Given the description of an element on the screen output the (x, y) to click on. 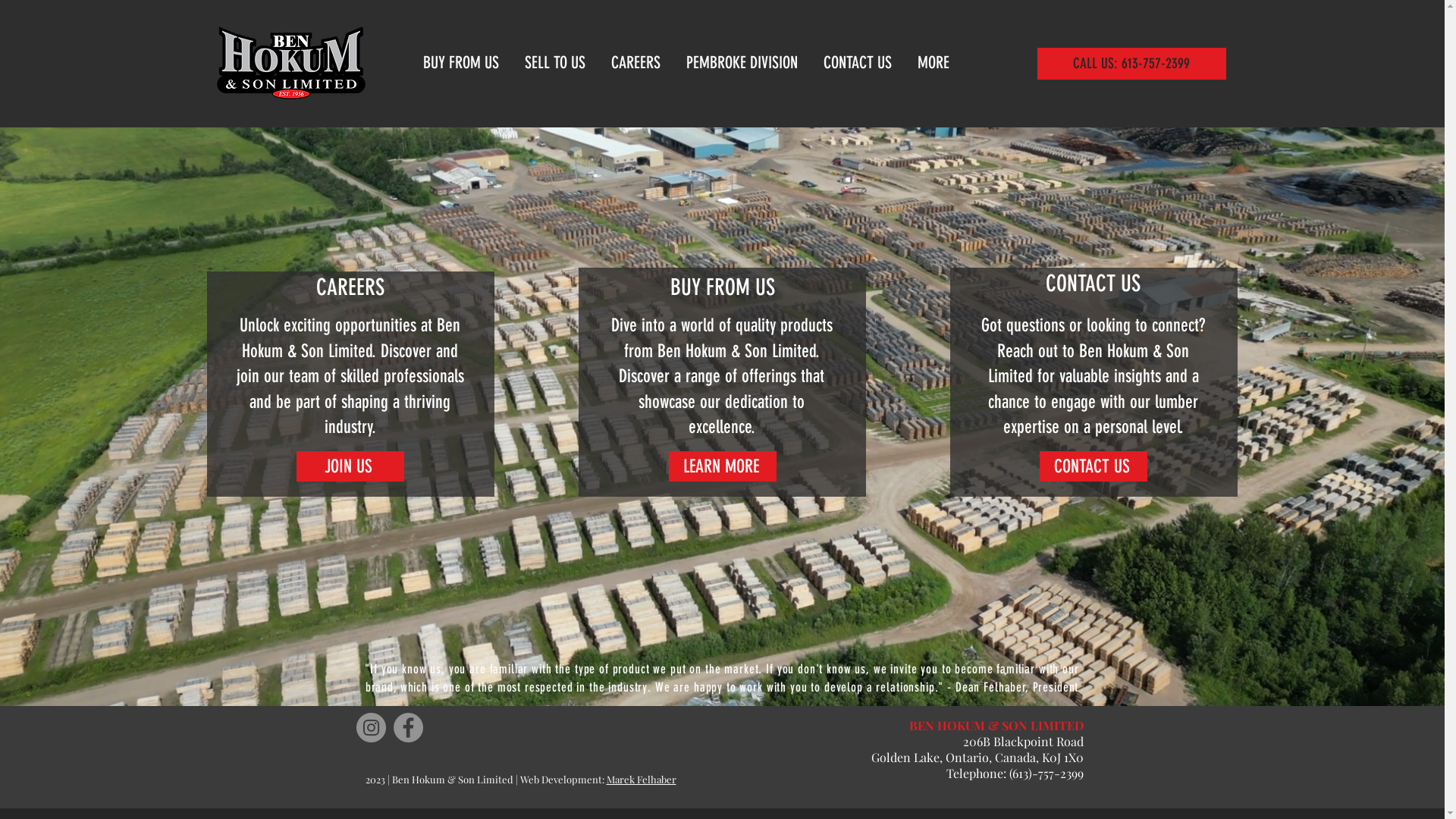
CONTACT US Element type: text (1092, 466)
CAREERS Element type: text (636, 62)
CONTACT US Element type: text (858, 62)
Marek Felhaber Element type: text (641, 778)
Ben Hokum & Son Limited Element type: hover (290, 62)
SELL TO US Element type: text (555, 62)
BUY FROM US Element type: text (461, 62)
LEARN MORE Element type: text (722, 466)
PEMBROKE DIVISION Element type: text (743, 62)
JOIN US Element type: text (349, 466)
